Given the description of an element on the screen output the (x, y) to click on. 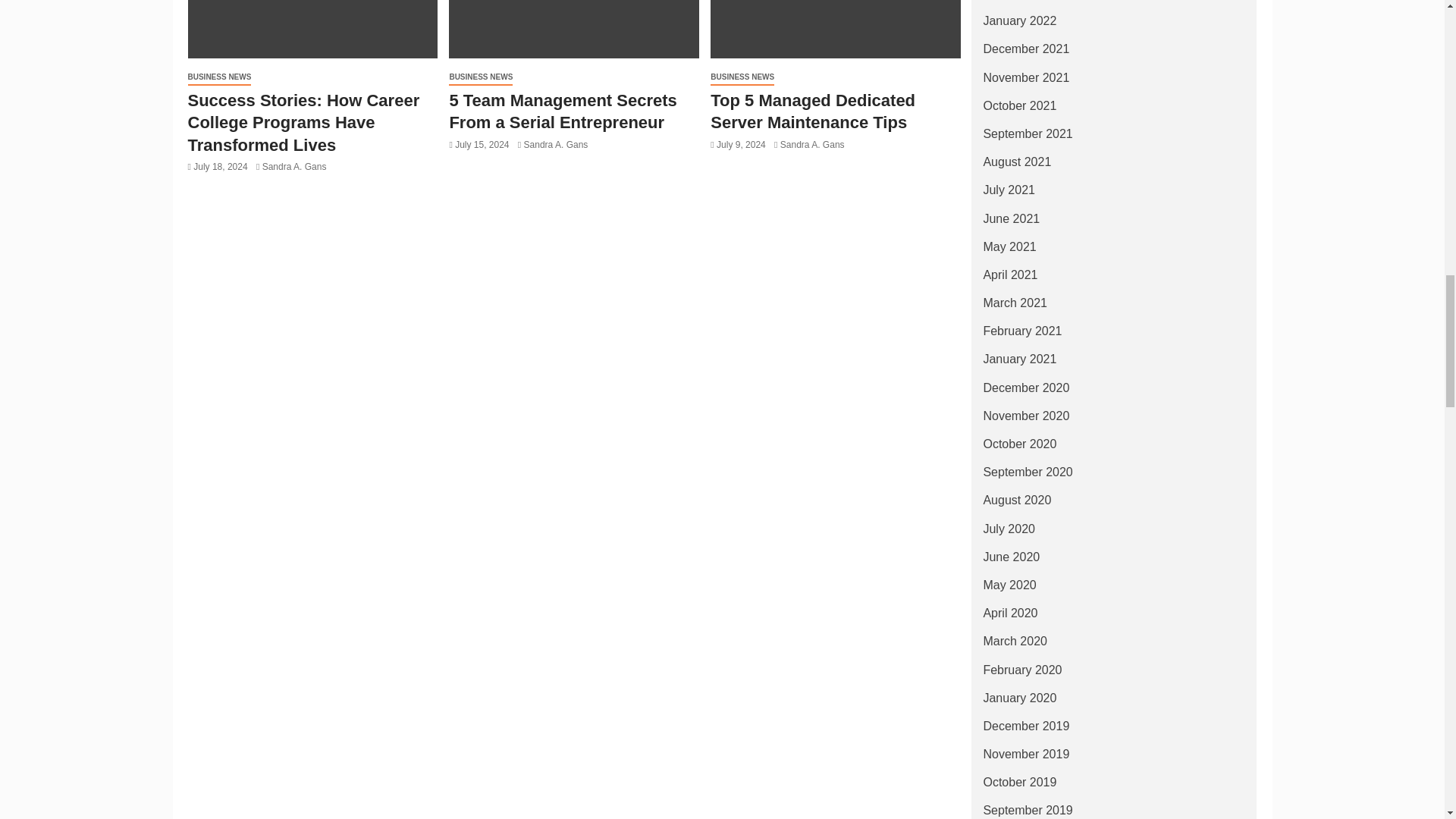
Top 5 Managed Dedicated Server Maintenance Tips (835, 29)
BUSINESS NEWS (219, 77)
Sandra A. Gans (294, 166)
5 Team Management Secrets From a Serial Entrepreneur (573, 29)
